Given the description of an element on the screen output the (x, y) to click on. 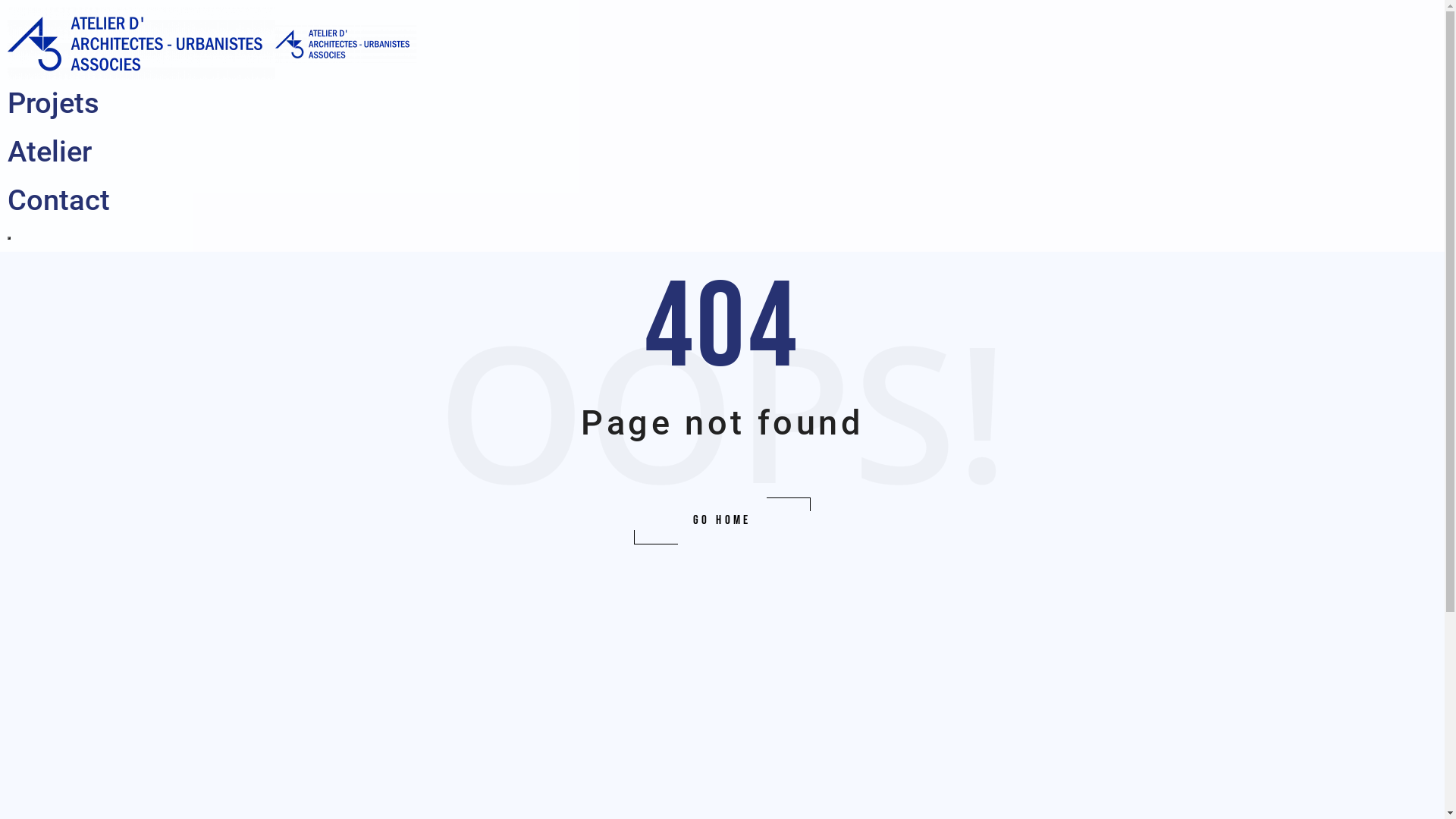
Atelier Element type: text (49, 151)
Go home Element type: text (721, 520)
Projets Element type: text (53, 102)
Contact Element type: text (58, 199)
